Given the description of an element on the screen output the (x, y) to click on. 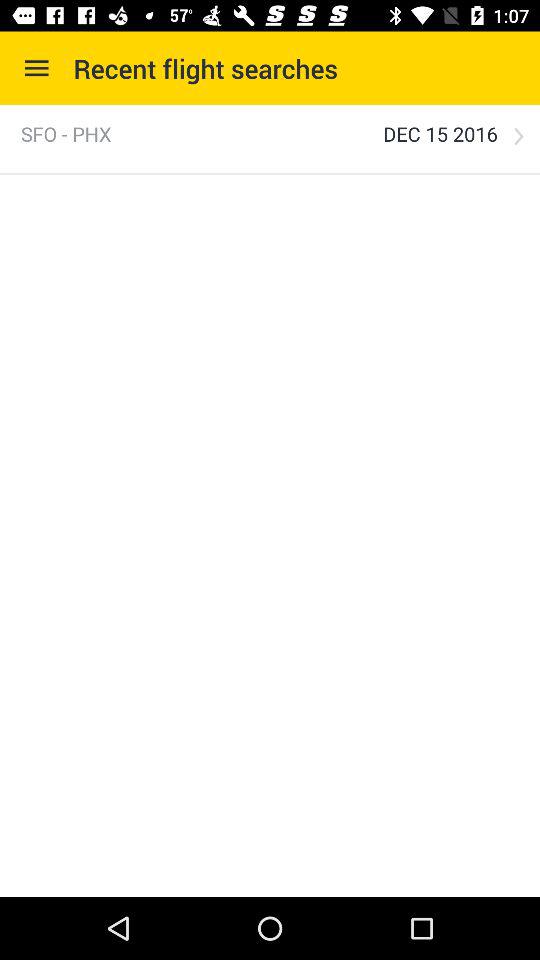
open the item to the left of the dec 15 2016 (66, 133)
